Given the description of an element on the screen output the (x, y) to click on. 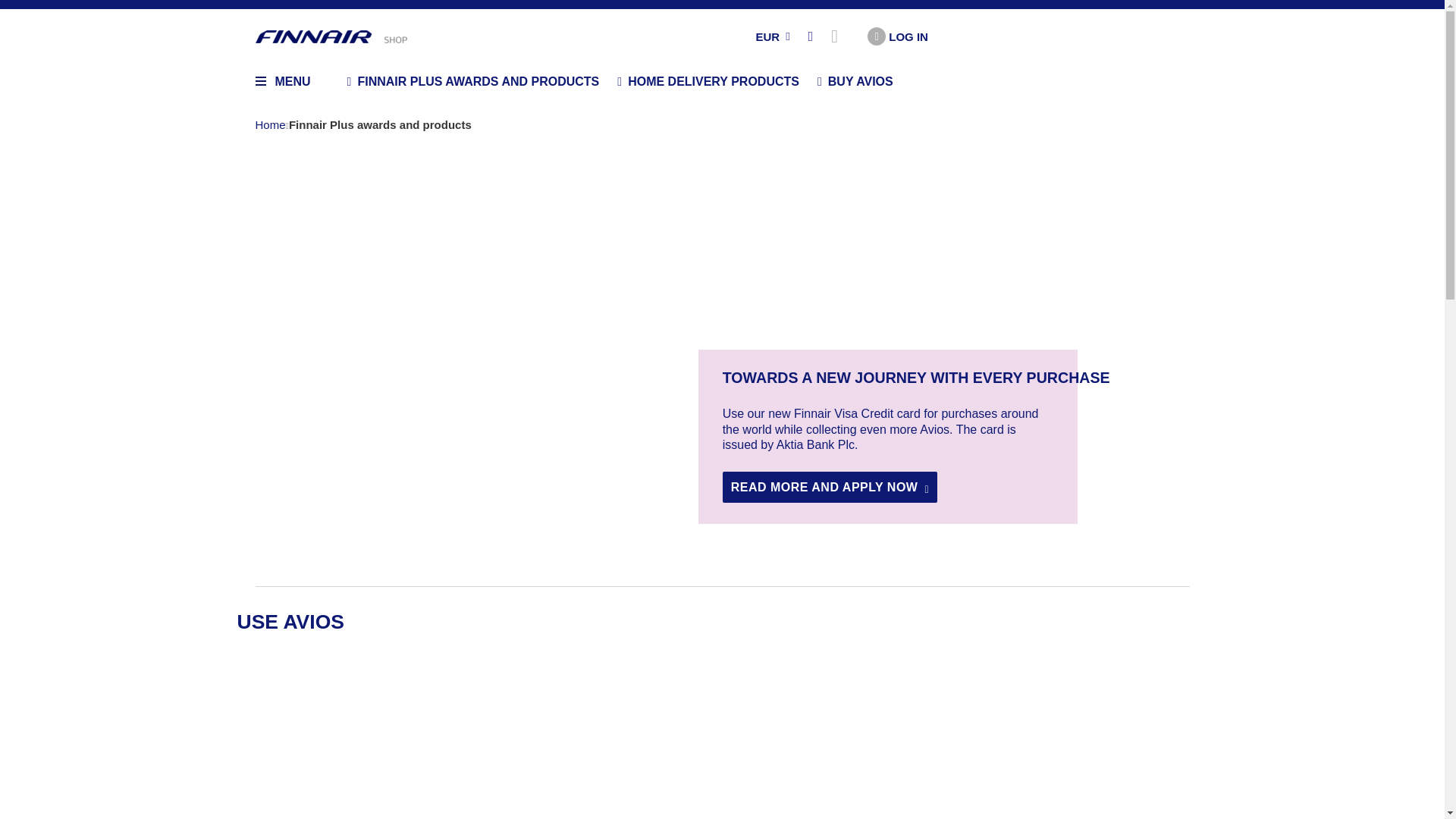
LOG IN (897, 36)
MENU (282, 81)
Shopping cart (840, 36)
EUR (758, 36)
